Given the description of an element on the screen output the (x, y) to click on. 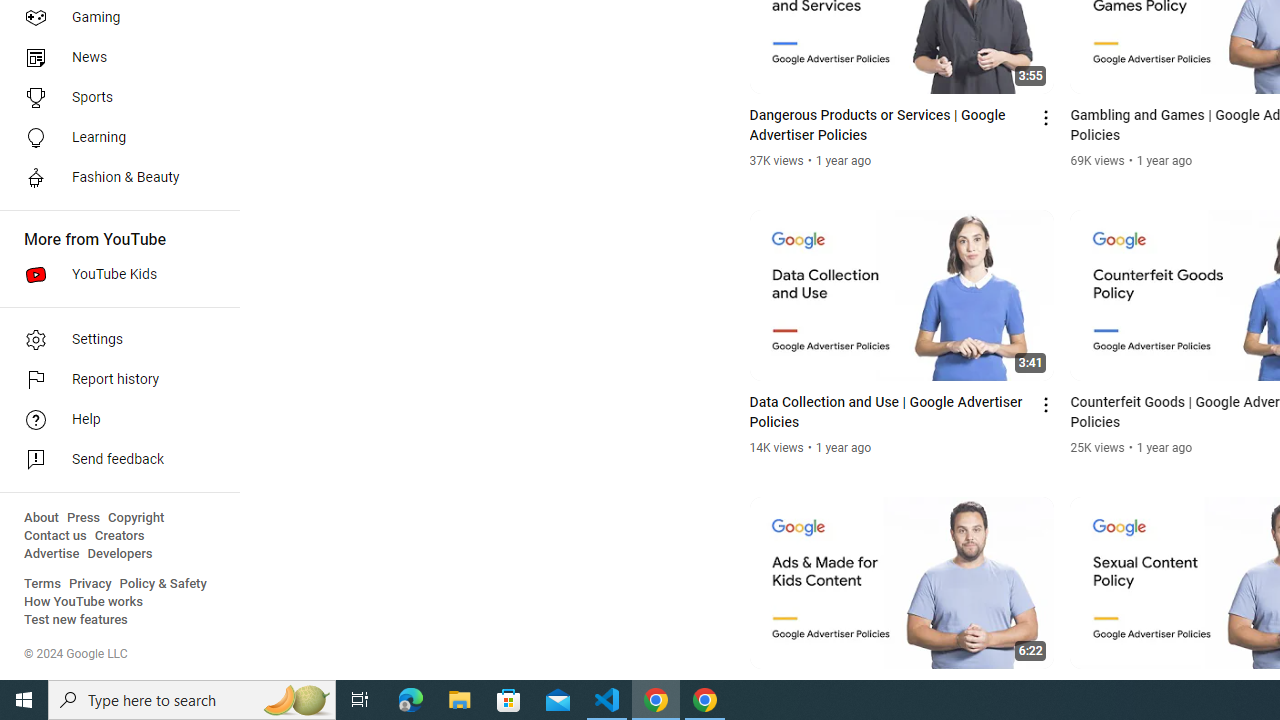
Fashion & Beauty (113, 177)
Developers (120, 554)
Copyright (136, 518)
News (113, 57)
YouTube Kids (113, 274)
Sports (113, 97)
About (41, 518)
Contact us (55, 536)
Advertise (51, 554)
Creators (118, 536)
